Given the description of an element on the screen output the (x, y) to click on. 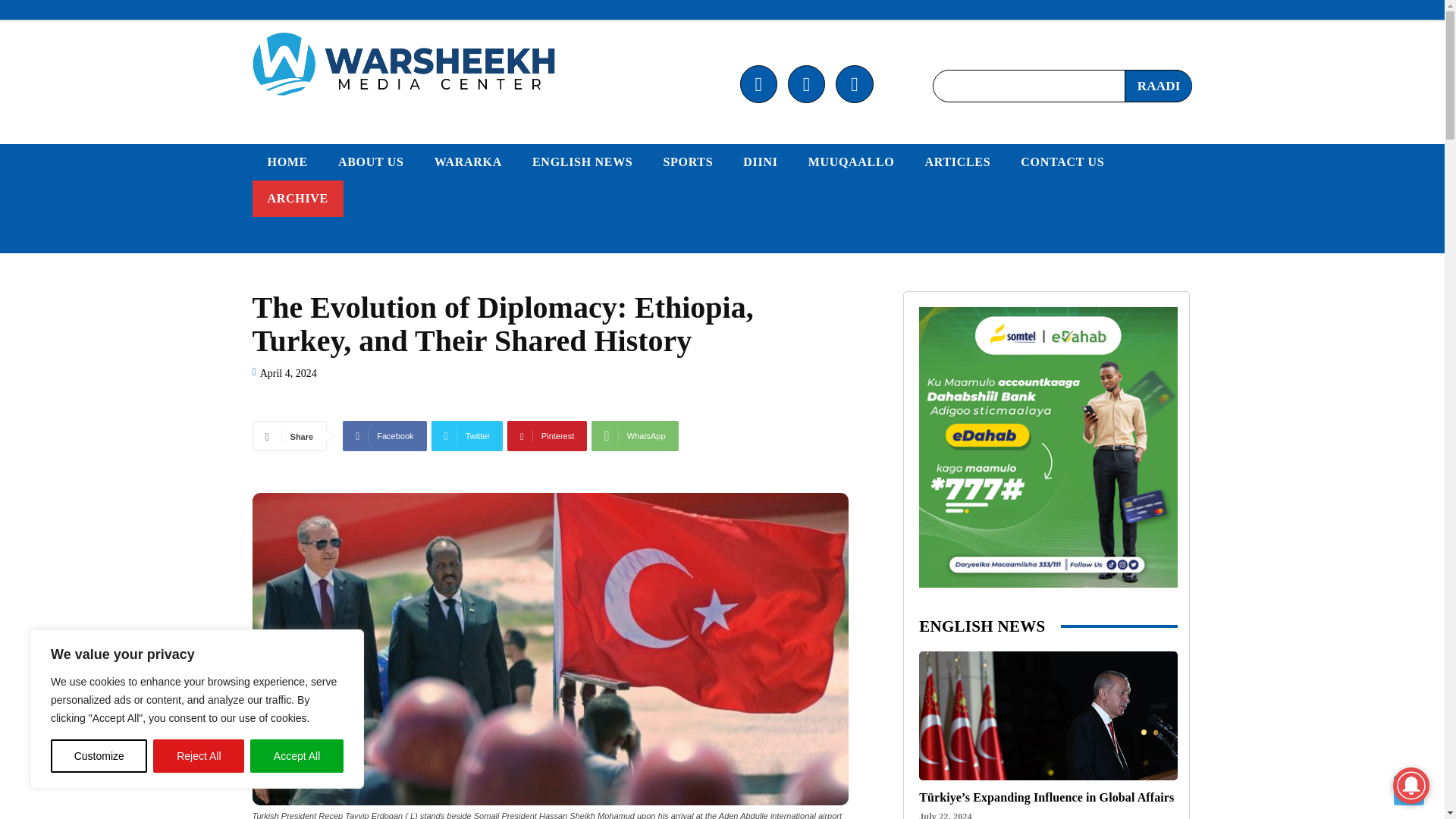
WhatsApp (634, 435)
Reject All (198, 756)
Twitter (466, 435)
Customize (98, 756)
Youtube (853, 83)
Twitter (806, 83)
Pinterest (546, 435)
Facebook (758, 83)
Accept All (296, 756)
Facebook (384, 435)
